Given the description of an element on the screen output the (x, y) to click on. 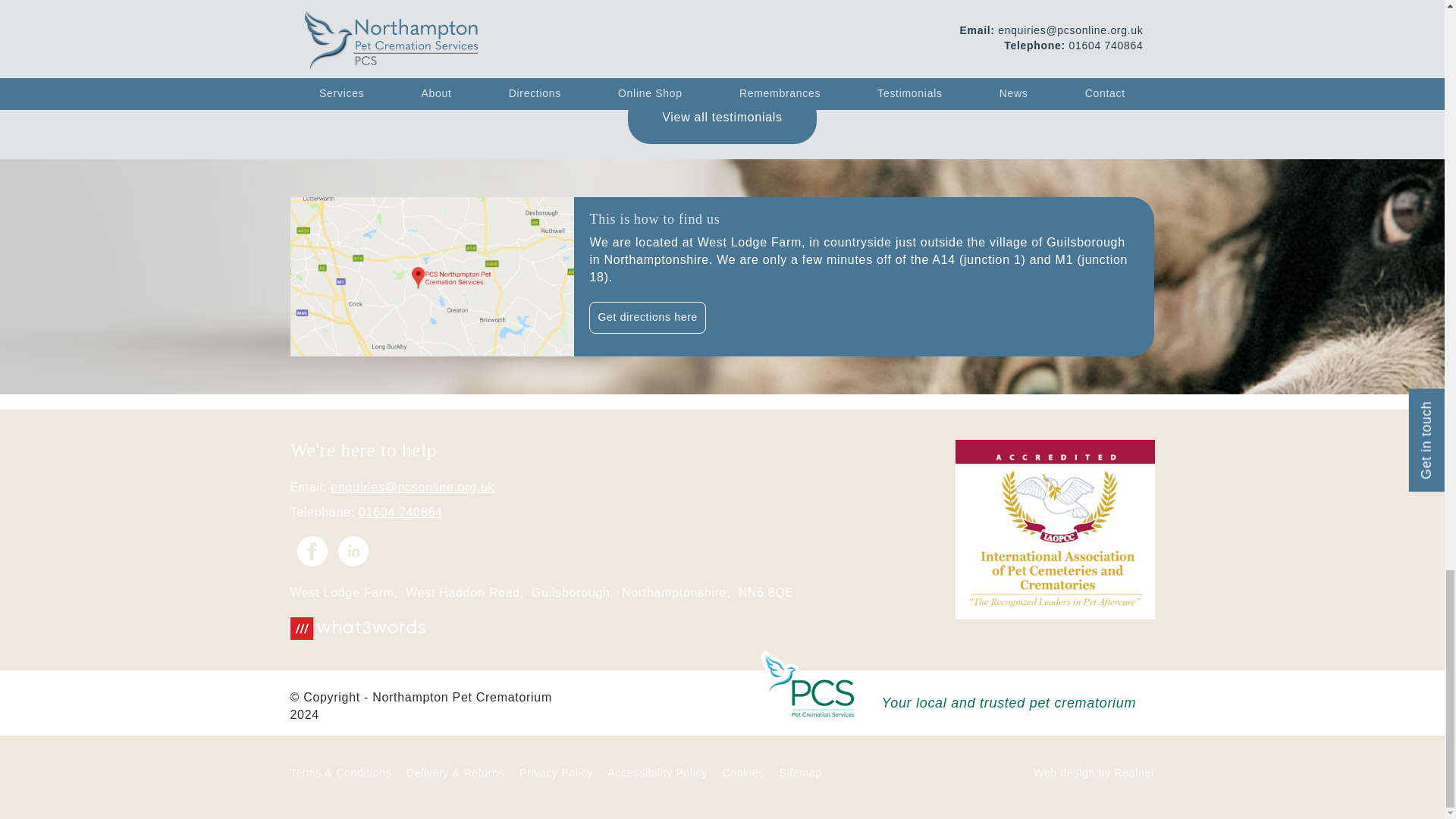
Accessibility Policy (657, 772)
Cookies (743, 772)
Web design by Realnet (1093, 772)
Privacy Policy (555, 772)
Browse Sitemap (800, 772)
Terms and Conditions (340, 772)
